Given the description of an element on the screen output the (x, y) to click on. 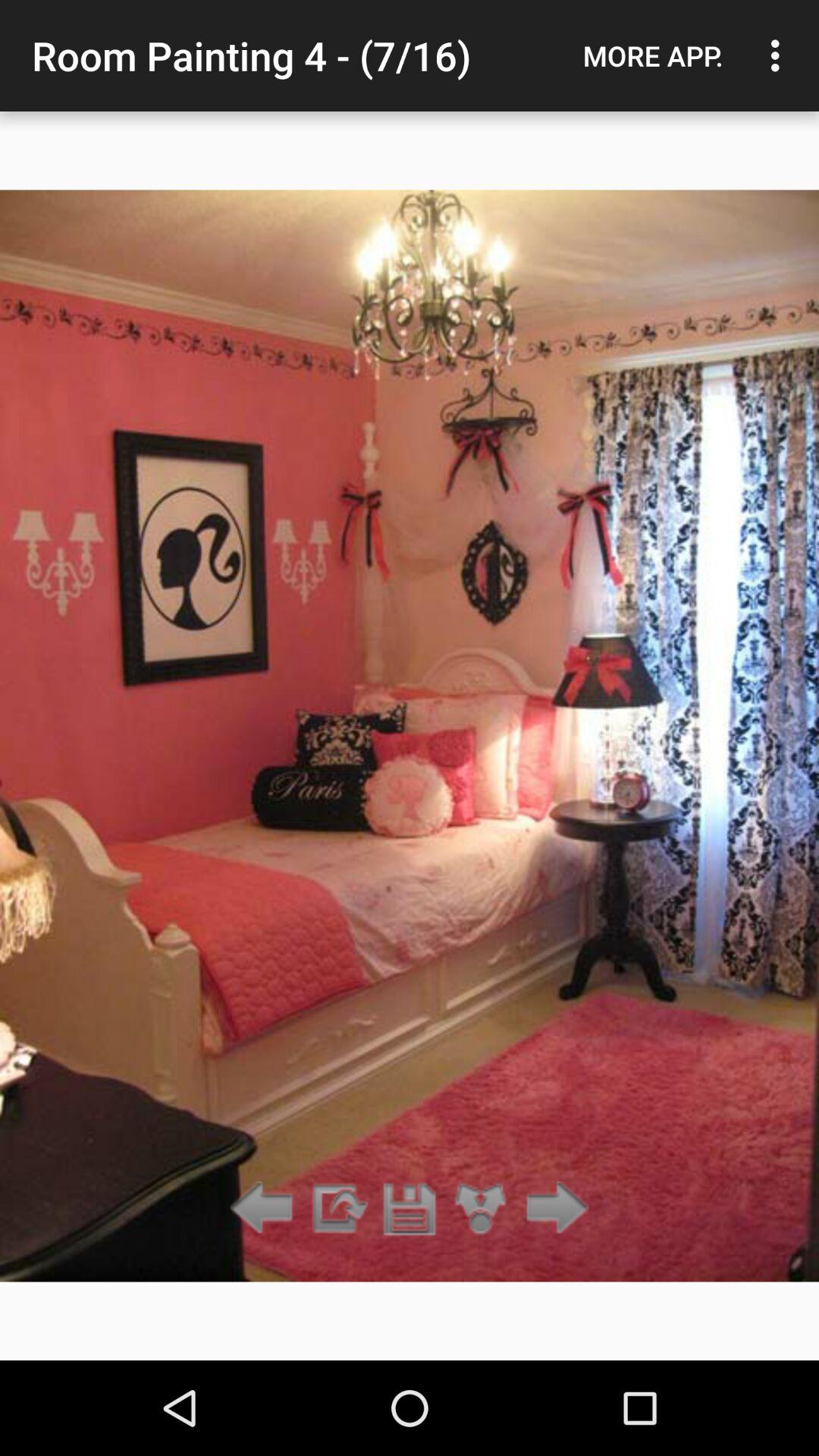
go to forward (552, 1209)
